Given the description of an element on the screen output the (x, y) to click on. 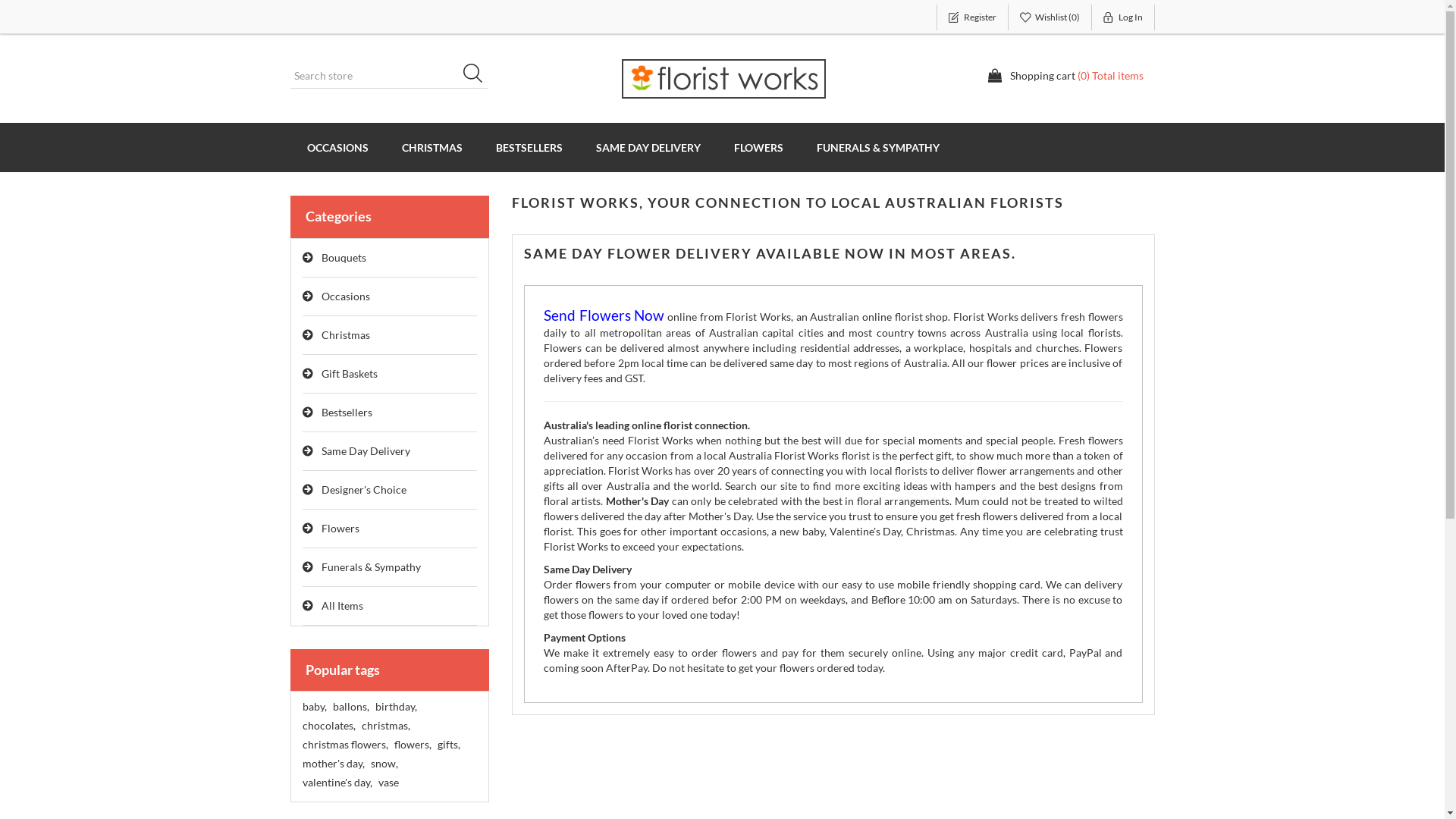
OCCASIONS Element type: text (336, 147)
Log In Element type: text (1123, 17)
CHRISTMAS Element type: text (432, 147)
Wishlist (0) Element type: text (1050, 17)
Funerals & Sympathy Element type: text (388, 567)
FUNERALS & SYMPATHY Element type: text (877, 147)
mother's day, Element type: text (332, 763)
baby, Element type: text (313, 706)
Occasions Element type: text (388, 296)
gifts, Element type: text (447, 744)
SAME DAY DELIVERY Element type: text (648, 147)
FLOWERS Element type: text (758, 147)
snow, Element type: text (383, 763)
Bestsellers Element type: text (388, 412)
Christmas Element type: text (388, 335)
chocolates, Element type: text (327, 725)
Register Element type: text (971, 17)
Bouquets Element type: text (388, 257)
christmas, Element type: text (384, 725)
Designer's Choice Element type: text (388, 489)
Flowers Element type: text (388, 528)
BESTSELLERS Element type: text (529, 147)
ballons, Element type: text (350, 706)
Gift Baskets Element type: text (388, 373)
Shopping cart (0) Total items Element type: text (1065, 75)
flowers, Element type: text (412, 744)
christmas flowers, Element type: text (344, 744)
birthday, Element type: text (395, 706)
valentine's day, Element type: text (336, 782)
Send Flowers Now Element type: text (603, 316)
All Items Element type: text (388, 605)
vase Element type: text (387, 782)
Same Day Delivery Element type: text (388, 451)
